Given the description of an element on the screen output the (x, y) to click on. 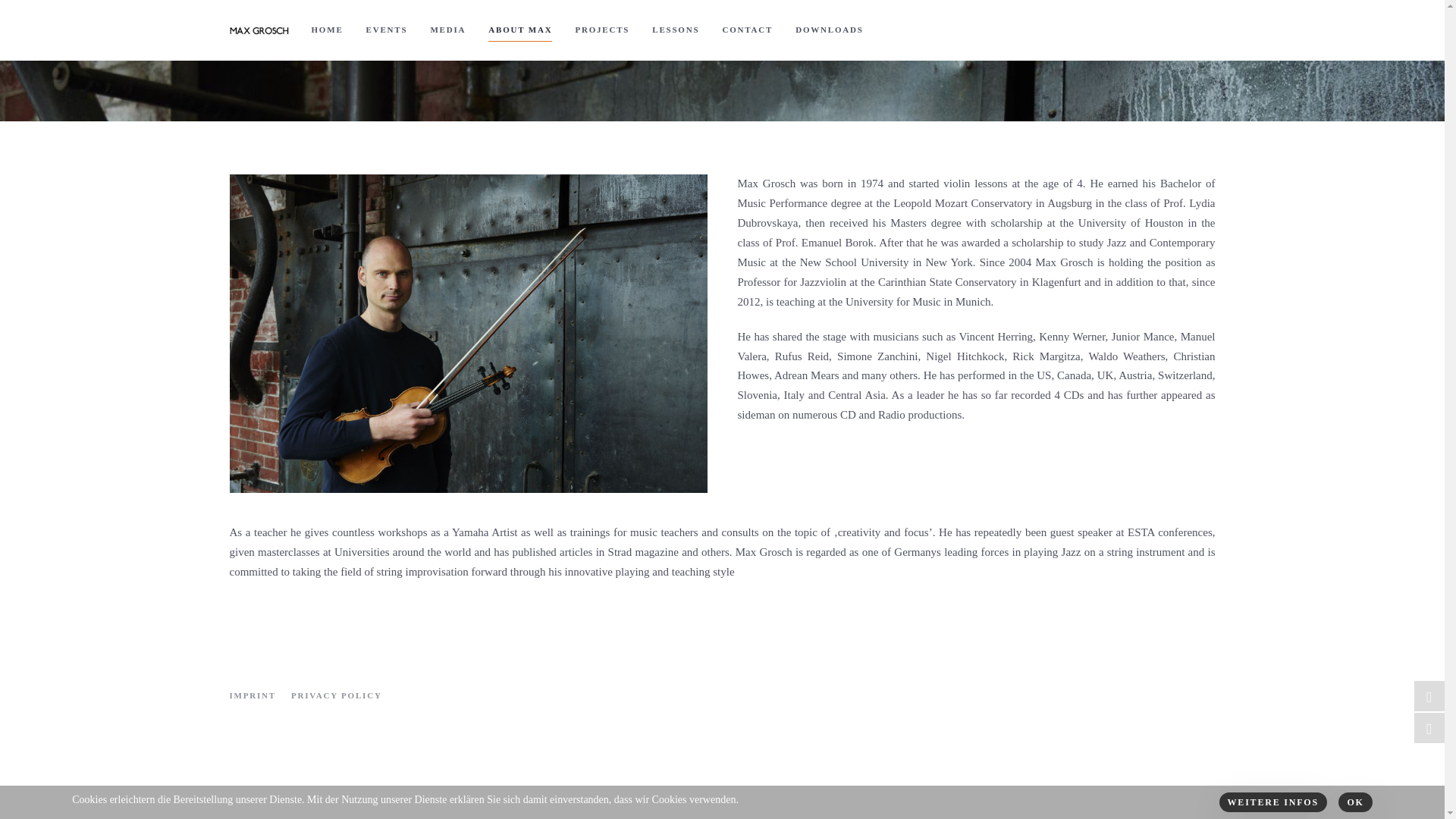
HOME (327, 30)
CONTACT (747, 30)
DOWNLOADS (829, 30)
EVENTS (387, 30)
IMPRINT (252, 695)
PRIVACY POLICY (336, 695)
PROJECTS (601, 30)
LESSONS (675, 30)
ABOUT MAX (520, 30)
MEDIA (448, 30)
